Given the description of an element on the screen output the (x, y) to click on. 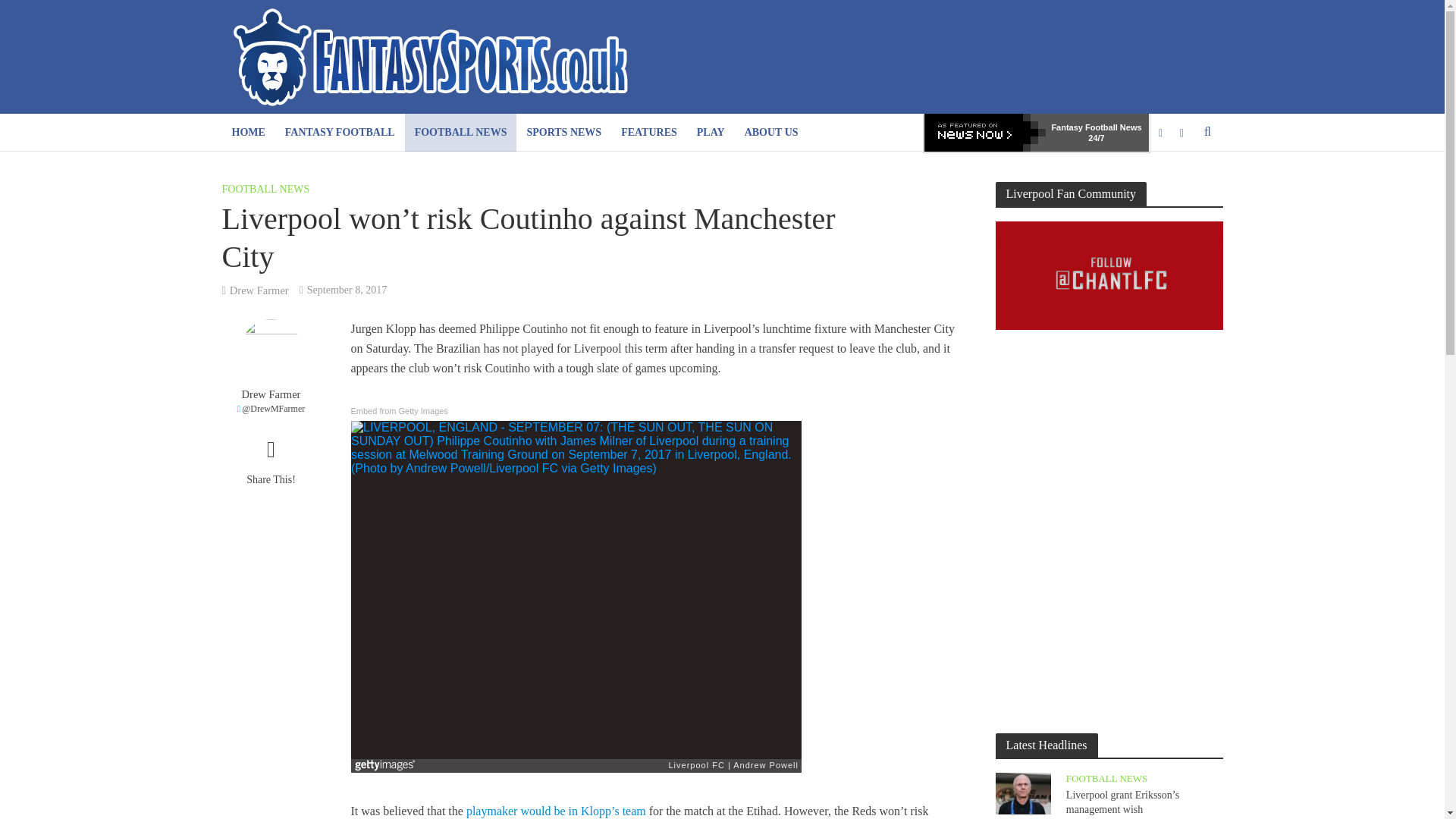
ABOUT US (771, 132)
SPORTS NEWS (563, 132)
Click here for more Fantasy Football news from NewsNow (1096, 132)
FANTASY FOOTBALL (339, 132)
Click here for more Fantasy Football news from NewsNow (984, 132)
FOOTBALL NEWS (460, 132)
Liverpool Fan Community (1108, 275)
HOME (248, 132)
FEATURES (649, 132)
Drew Farmer (270, 394)
Drew Farmer (259, 291)
PLAY (711, 132)
FOOTBALL NEWS (264, 190)
